Given the description of an element on the screen output the (x, y) to click on. 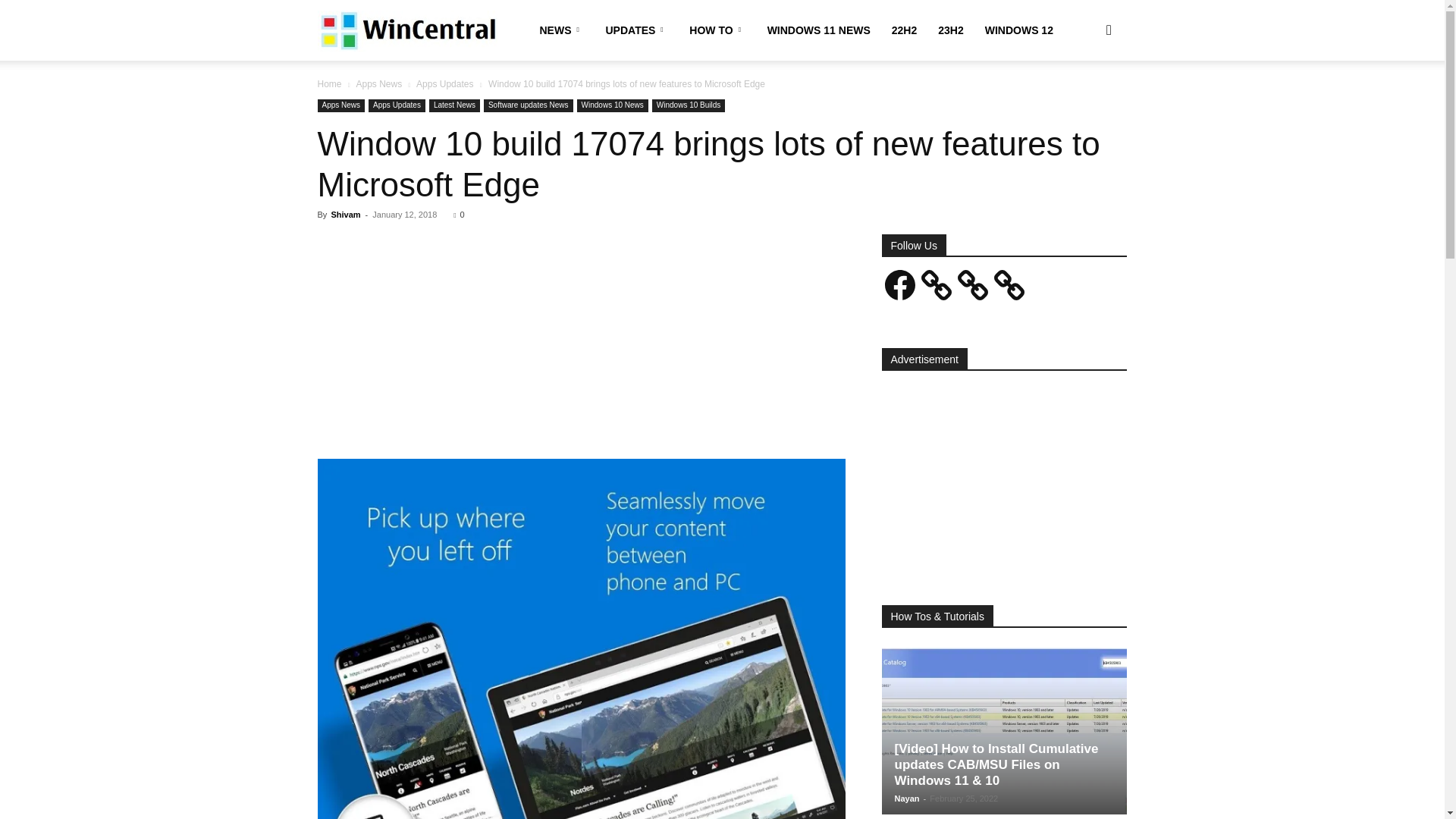
Search (1085, 102)
WINDOWS 11 NEWS (818, 30)
Advertisement (580, 346)
UPDATES (636, 30)
Apps Updates (396, 105)
View all posts in Apps Updates (444, 83)
Latest News (454, 105)
Windows 10 News (611, 105)
NEWS (562, 30)
View all posts in Apps News (378, 83)
Apps Updates (444, 83)
WinCentral (406, 30)
WINDOWS 12 (1019, 30)
0 (458, 214)
